Given the description of an element on the screen output the (x, y) to click on. 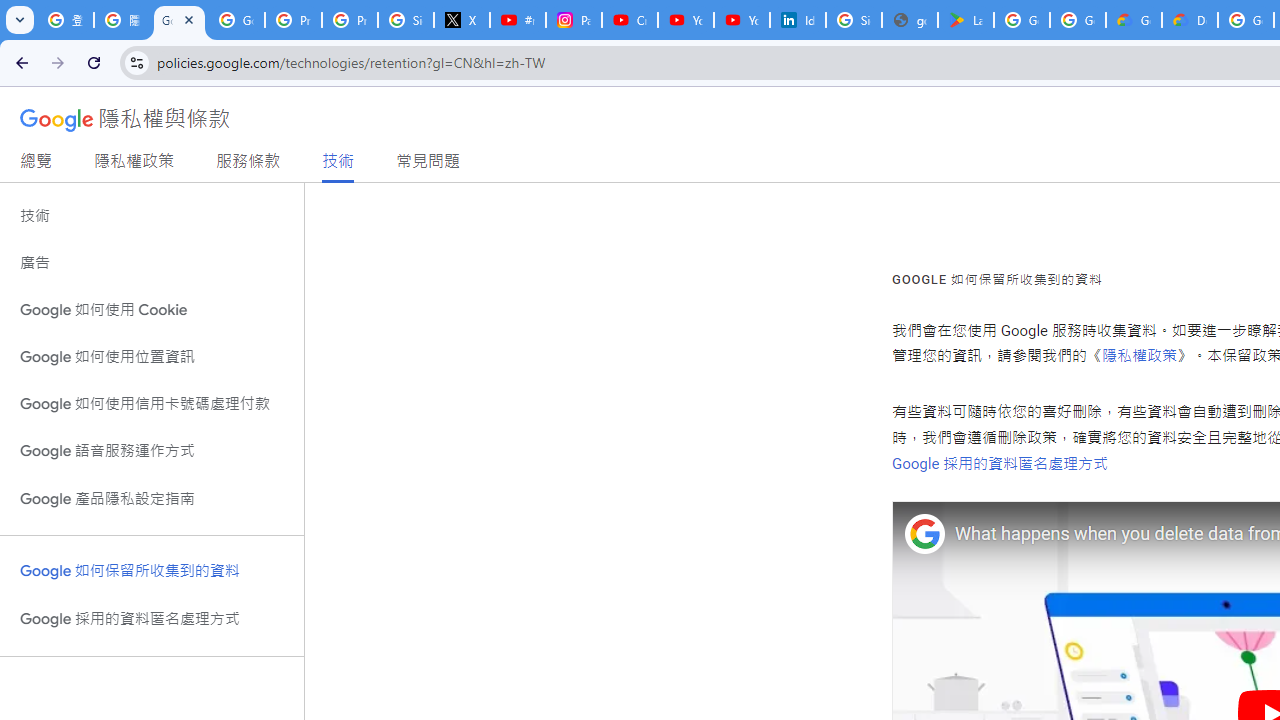
Google Workspace - Specific Terms (1077, 20)
X (461, 20)
Privacy Help Center - Policies Help (349, 20)
